Given the description of an element on the screen output the (x, y) to click on. 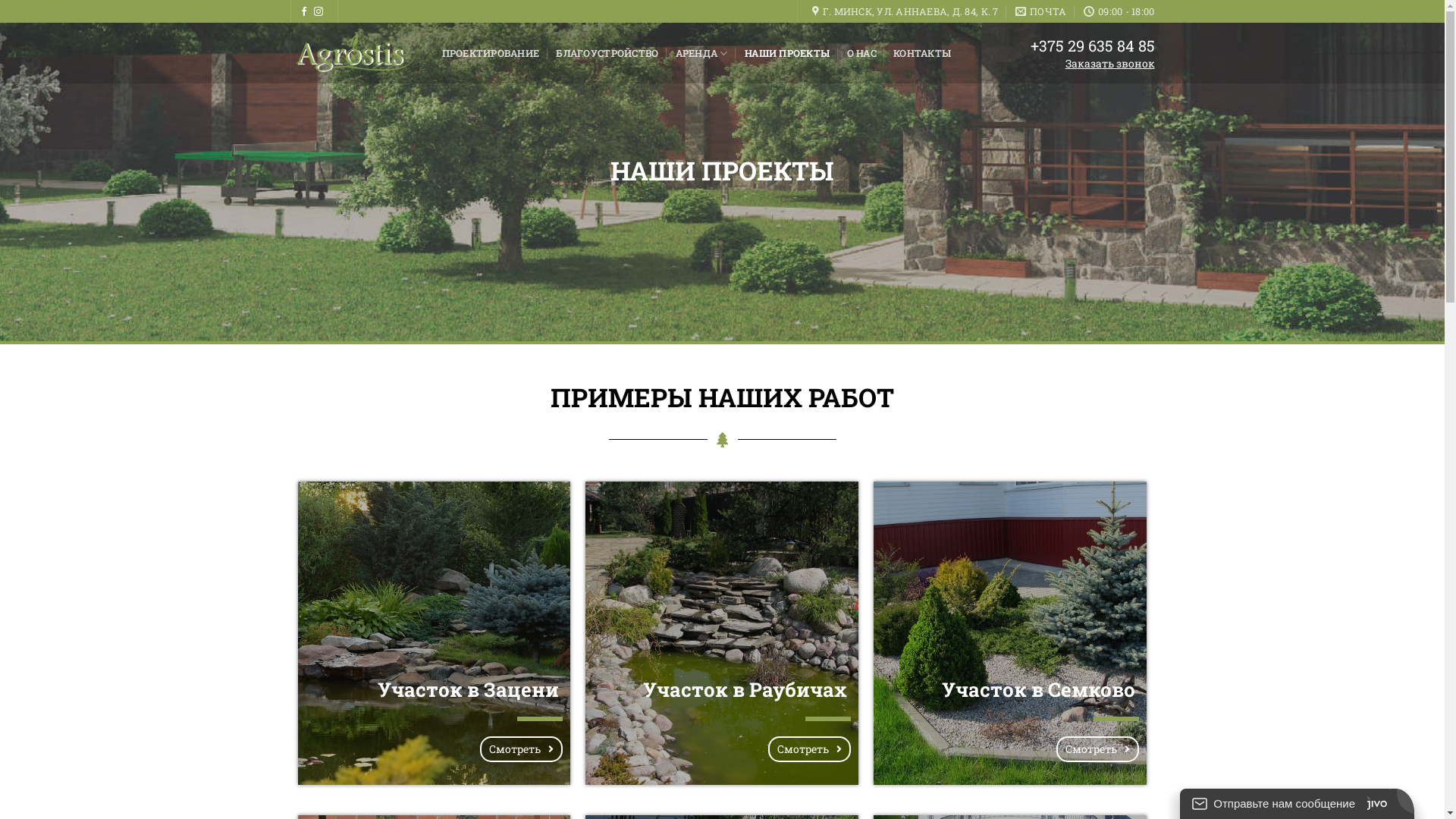
09:00 - 18:00 Element type: text (1118, 11)
+375 29 635 84 85 Element type: text (1091, 45)
agrostis.by Element type: hover (353, 53)
